Given the description of an element on the screen output the (x, y) to click on. 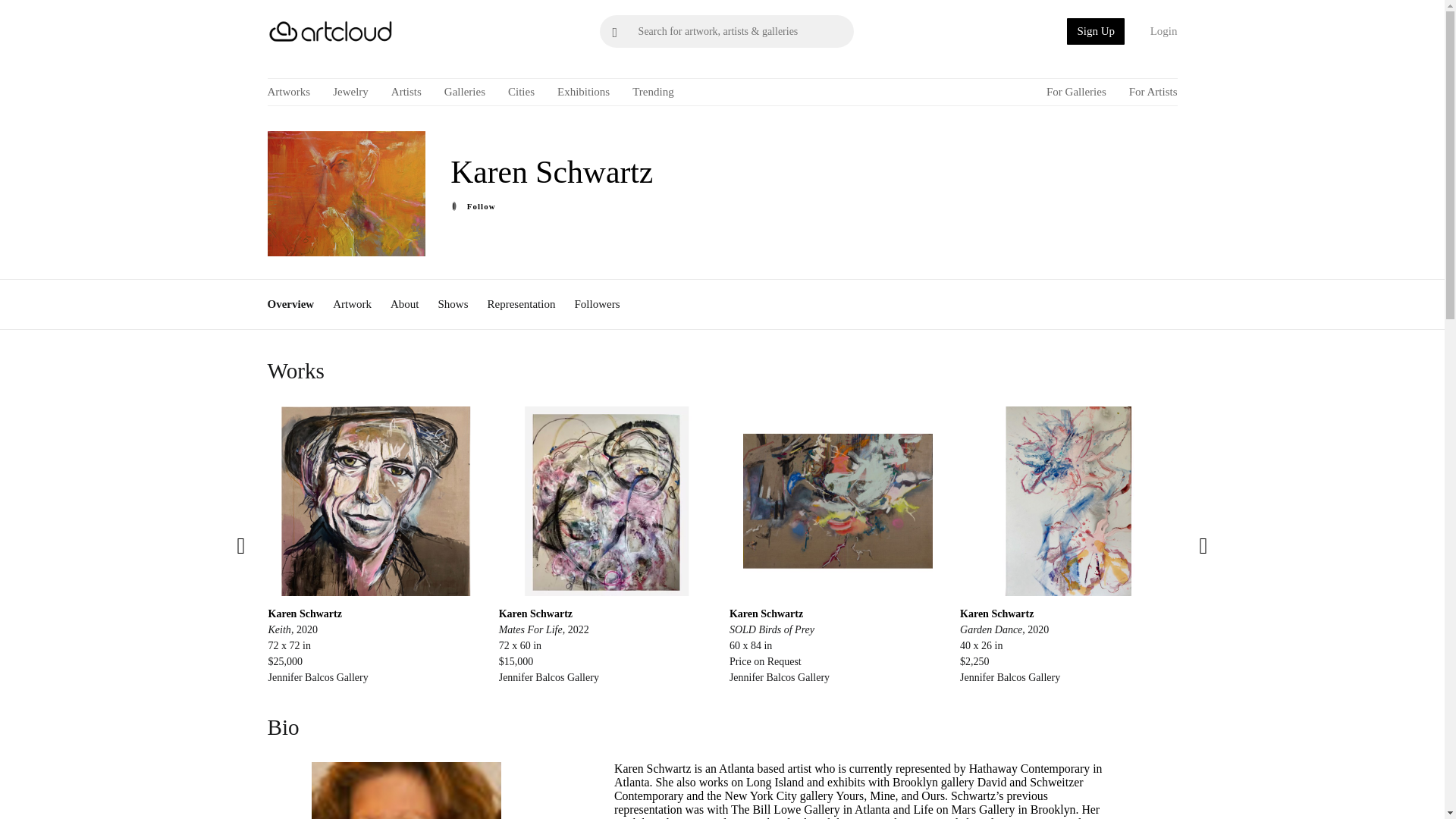
Keith (375, 501)
Mates For Life (606, 501)
SOLD Birds of Prey (837, 501)
Artists (406, 91)
Login (1158, 31)
Galleries (464, 91)
Jewelry (350, 91)
Sign Up (1095, 31)
Artworks (288, 91)
Garden Dance (1068, 501)
